Given the description of an element on the screen output the (x, y) to click on. 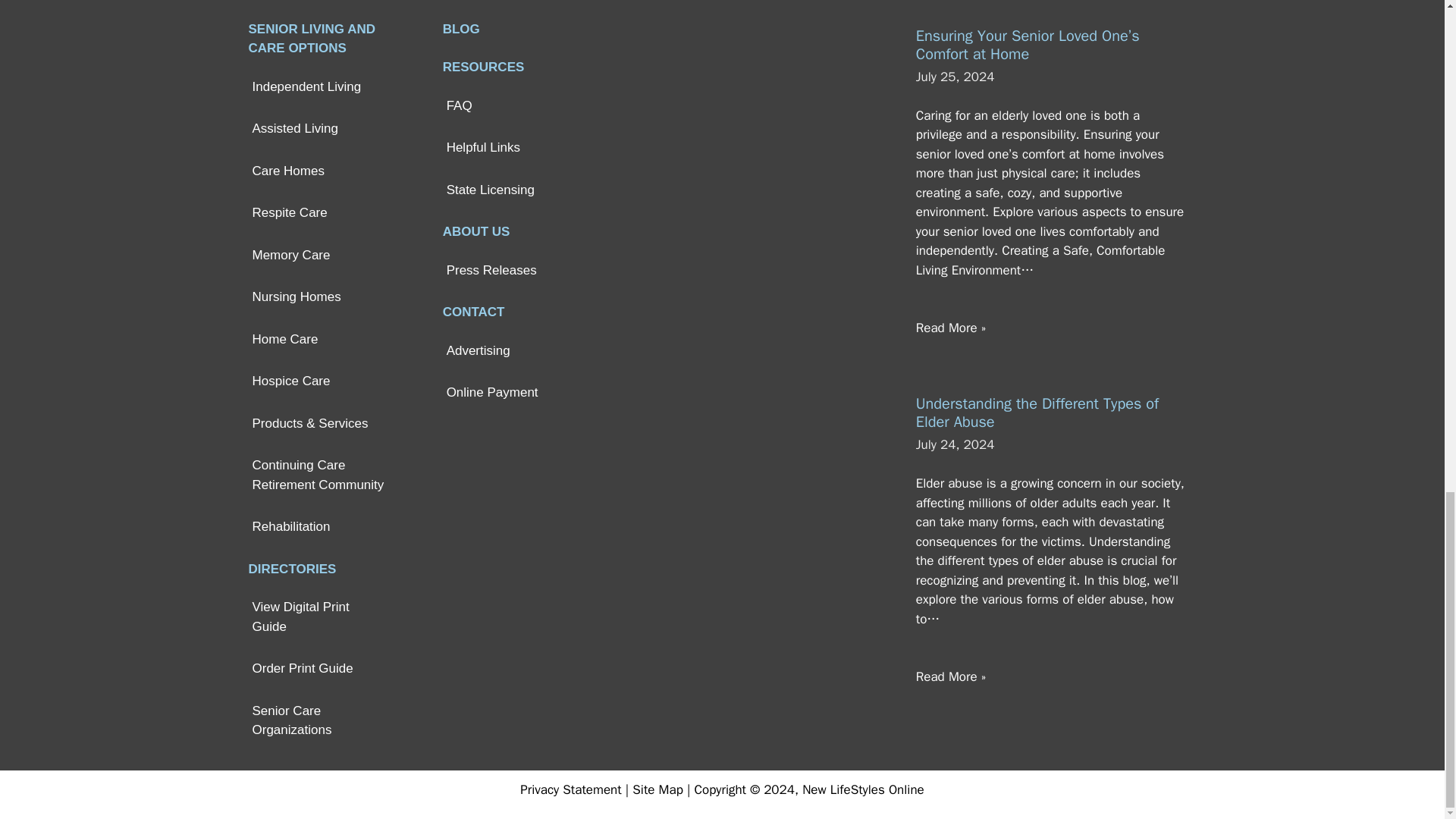
Understanding the Different Types of Elder Abuse (1036, 412)
